Given the description of an element on the screen output the (x, y) to click on. 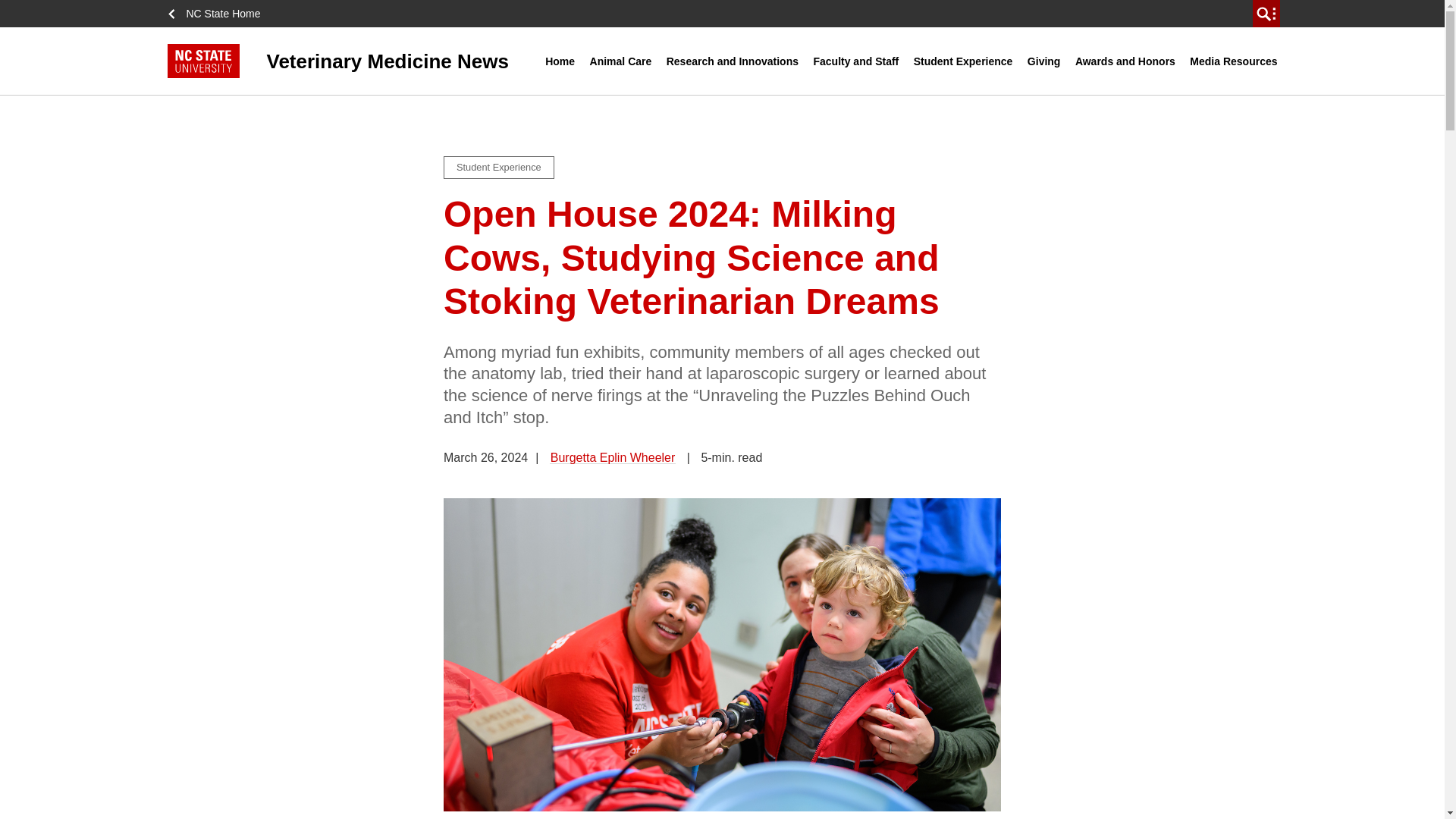
Media Resources (1233, 61)
Home (559, 61)
Animal Care (621, 61)
Awards and Honors (1125, 61)
Student Experience (963, 61)
Research and Innovations (732, 61)
Posts by Burgetta Eplin Wheeler (613, 457)
NC State Home (217, 13)
Faculty and Staff (855, 61)
Veterinary Medicine News (355, 61)
